Given the description of an element on the screen output the (x, y) to click on. 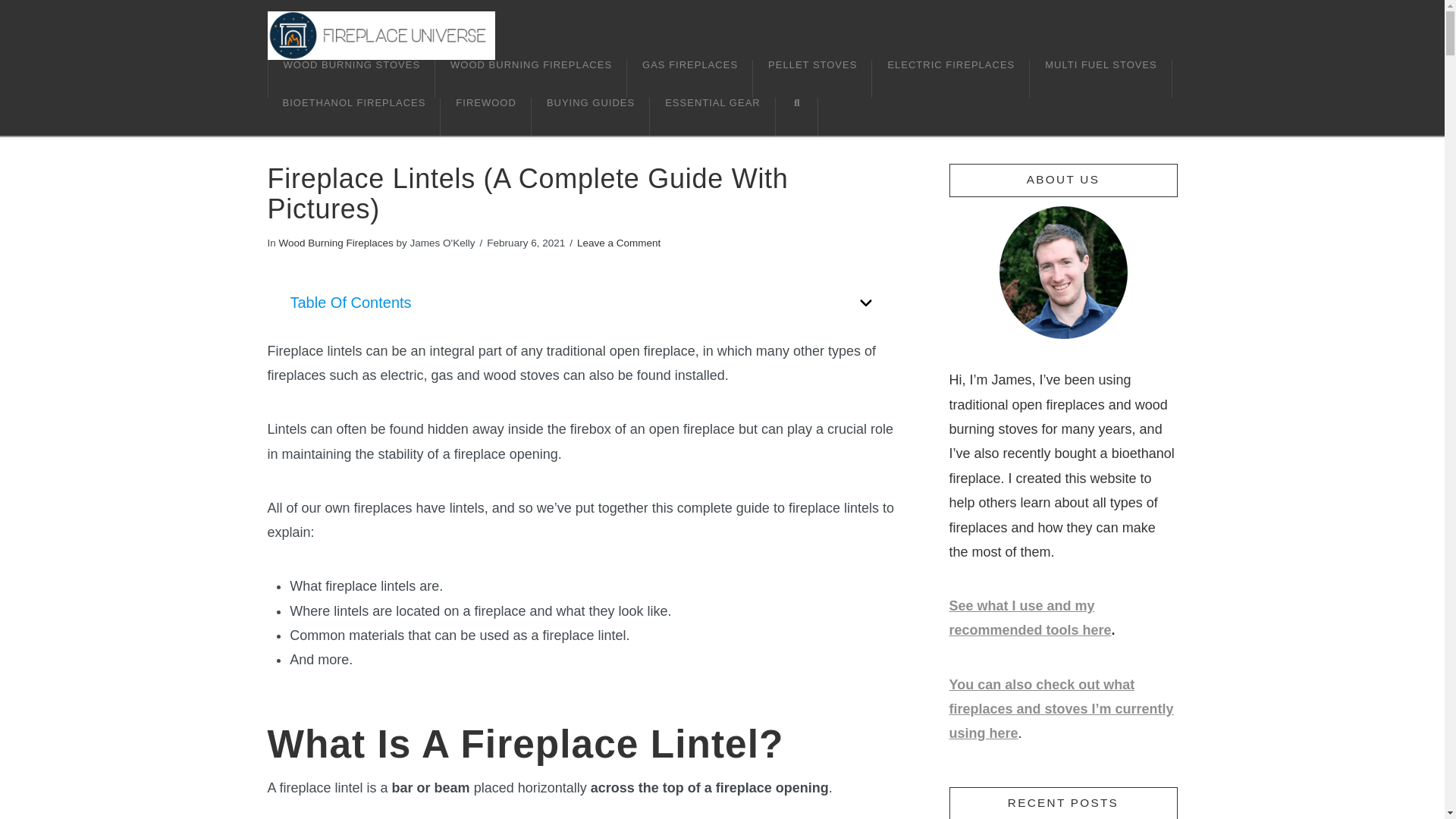
GAS FIREPLACES (689, 78)
Wood Burning Fireplaces (336, 242)
MULTI FUEL STOVES (1100, 78)
WOOD BURNING FIREPLACES (531, 78)
PELLET STOVES (812, 78)
ESSENTIAL GEAR (712, 116)
BIOETHANOL FIREPLACES (353, 116)
Leave a Comment (618, 242)
WOOD BURNING STOVES (350, 78)
BUYING GUIDES (590, 116)
ELECTRIC FIREPLACES (950, 78)
FIREWOOD (486, 116)
